Given the description of an element on the screen output the (x, y) to click on. 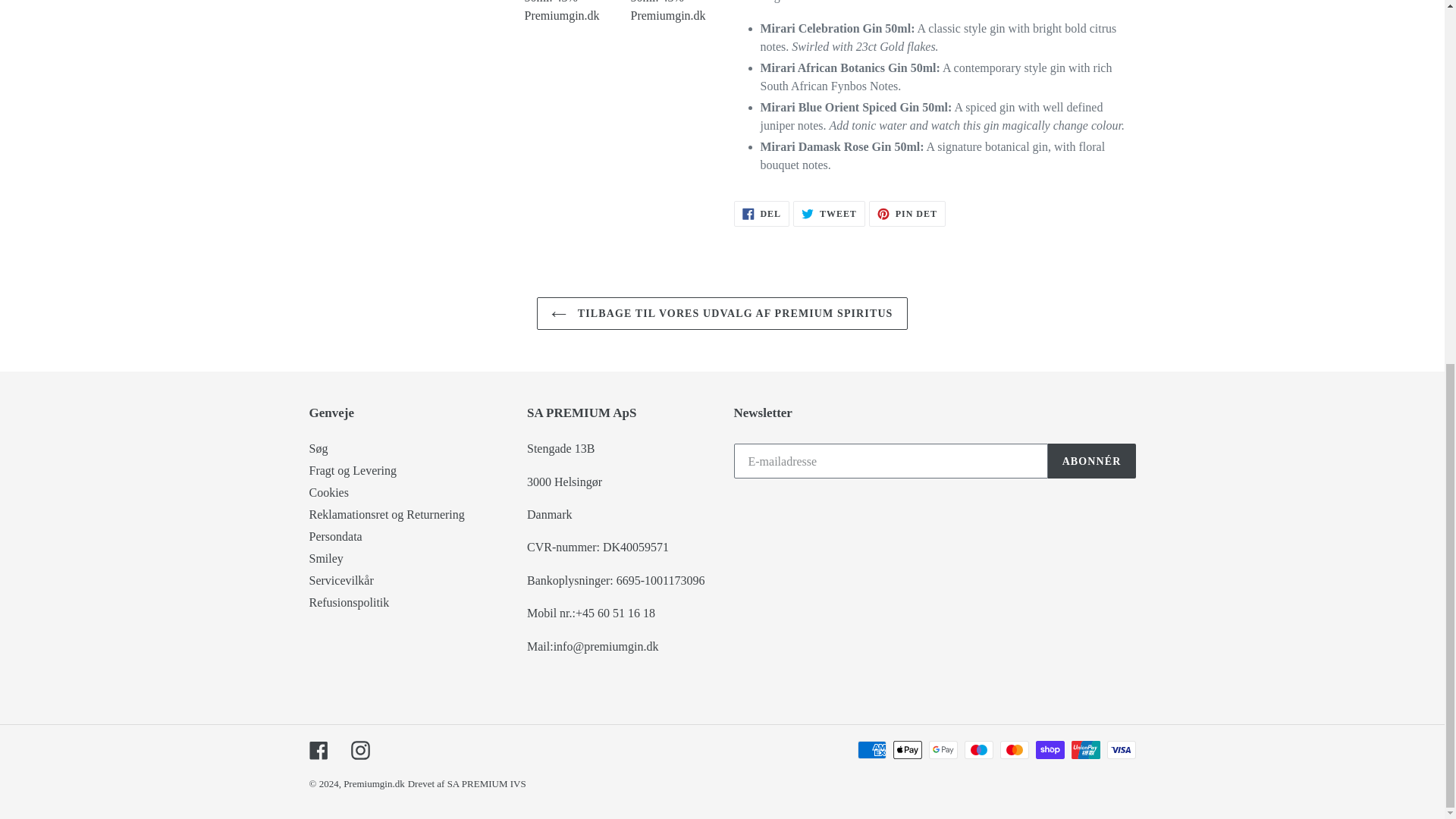
Refusionspolitik (349, 602)
Persondata (335, 535)
Smiley (325, 558)
Fragt og Levering (352, 470)
TILBAGE TIL VORES UDVALG AF PREMIUM SPIRITUS (722, 313)
Cookies (328, 492)
Reklamationsret og Returnering (386, 513)
